Given the description of an element on the screen output the (x, y) to click on. 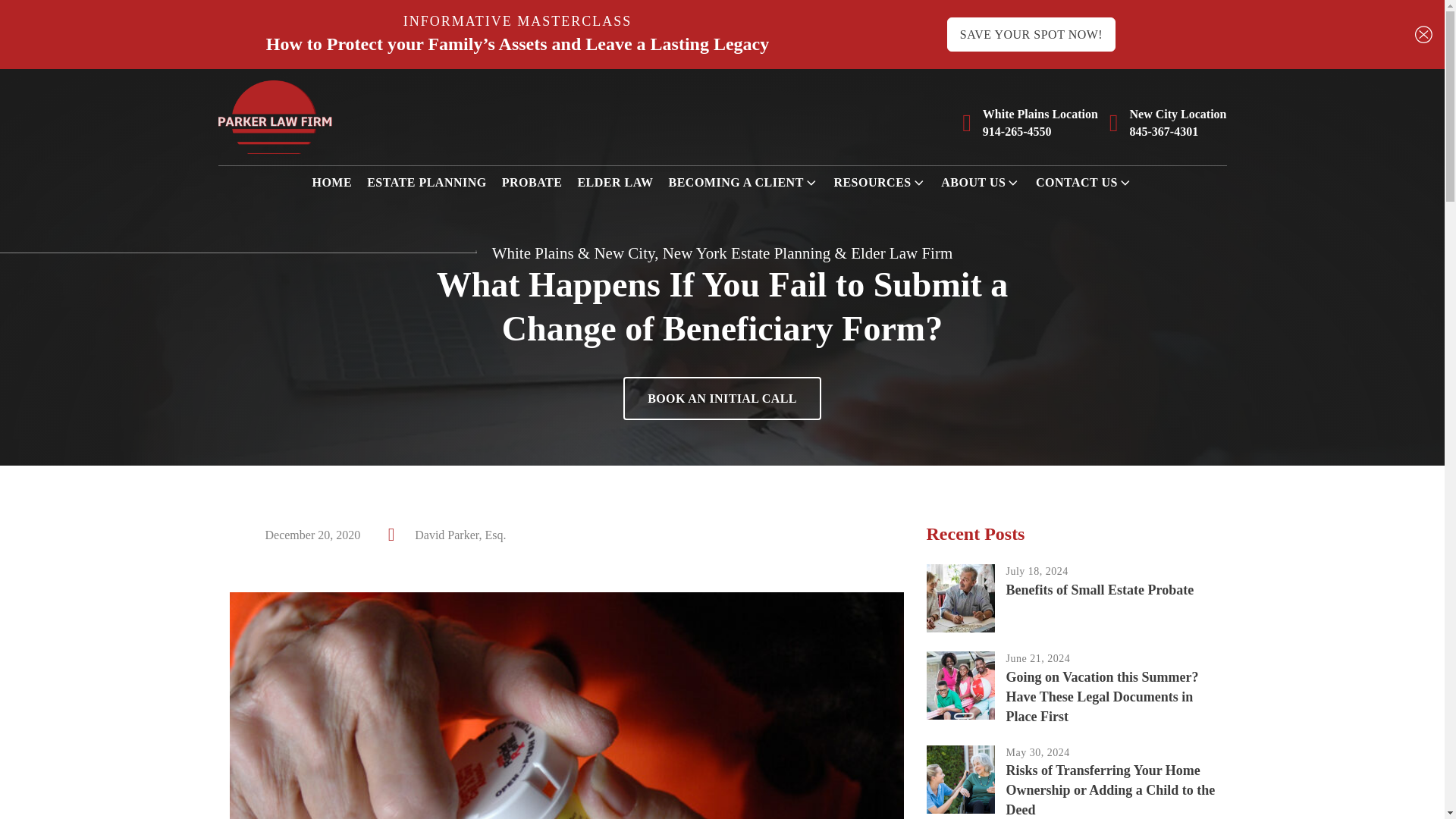
HOME (331, 182)
Parker Law Firm (274, 116)
RESOURCES (879, 182)
White Plains Location (1039, 113)
New City Location (1178, 113)
Book An Initial Call (722, 398)
ABOUT US (980, 182)
914-265-4550 (1016, 131)
ESTATE PLANNING (426, 182)
Benefits of Small Estate Probate (1099, 589)
ELDER LAW (614, 182)
PROBATE (532, 182)
845-367-4301 (1163, 131)
